Given the description of an element on the screen output the (x, y) to click on. 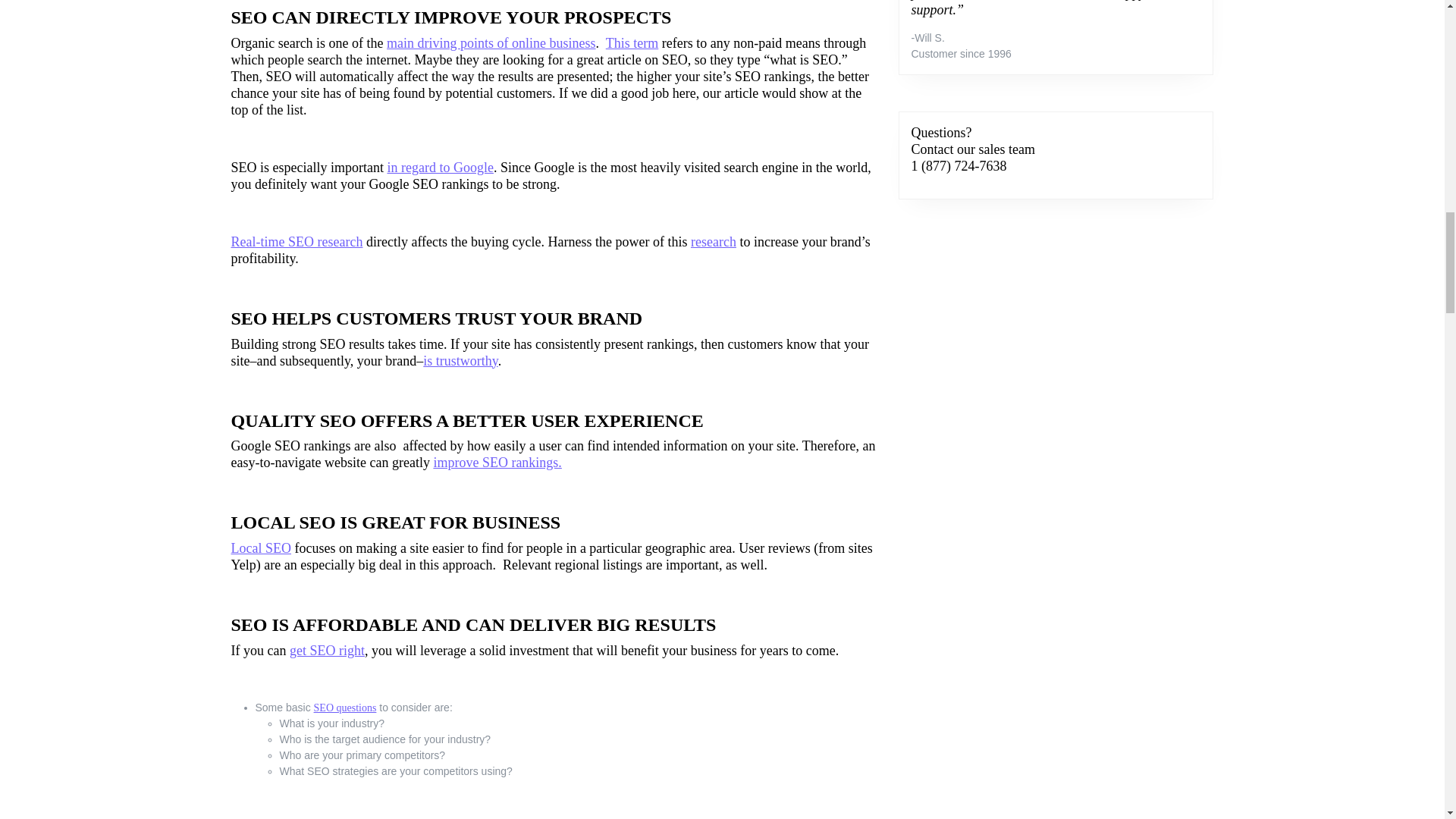
is trustworthy (460, 360)
Real-time SEO research (296, 241)
in regard to Google (440, 167)
This term (632, 43)
improve SEO rankings. (496, 462)
main driving points of online business (491, 43)
Local SEO (259, 548)
get SEO right (327, 650)
SEO questions (345, 707)
research (713, 241)
